Given the description of an element on the screen output the (x, y) to click on. 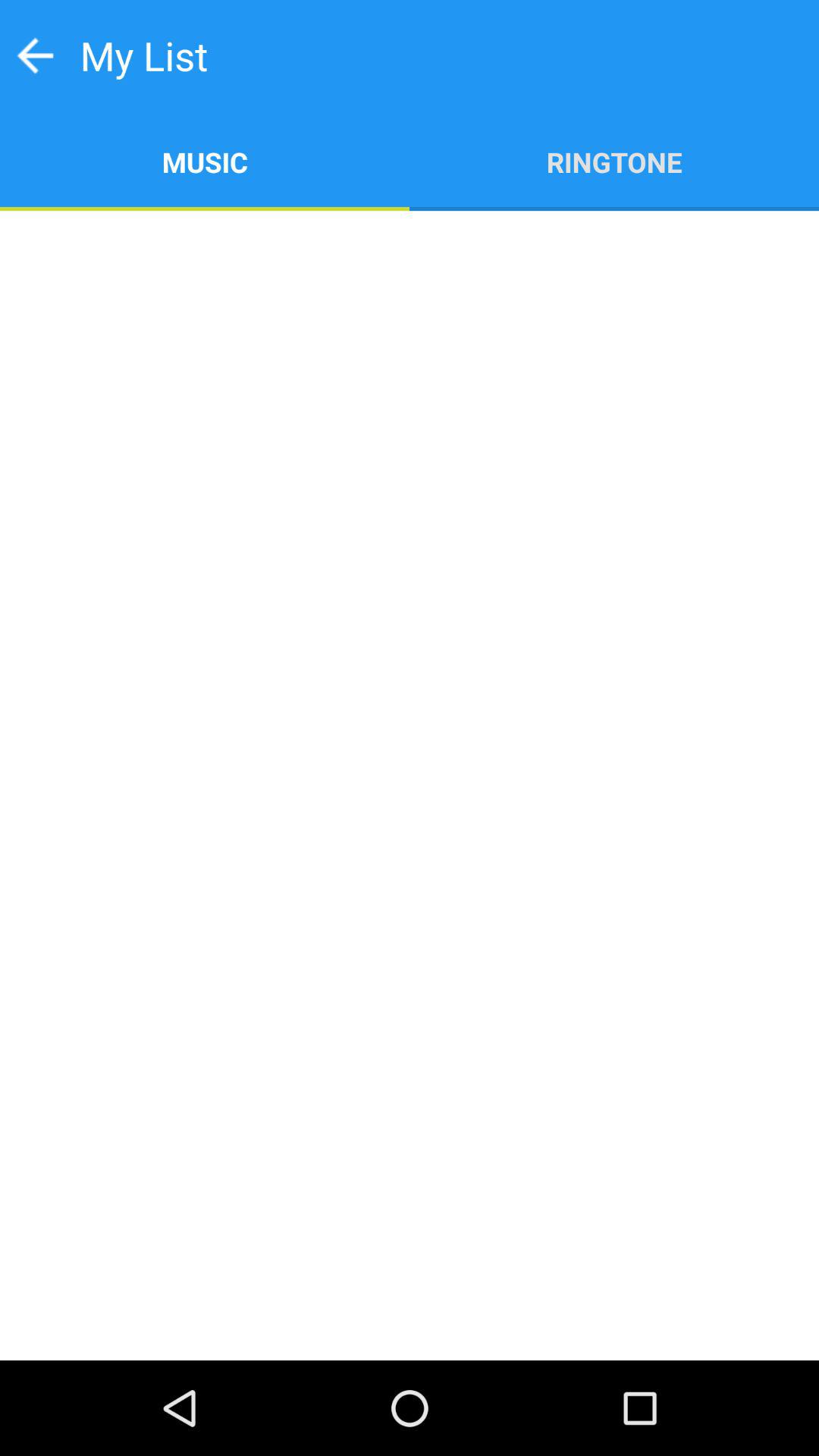
launch the ringtone app (614, 161)
